Given the description of an element on the screen output the (x, y) to click on. 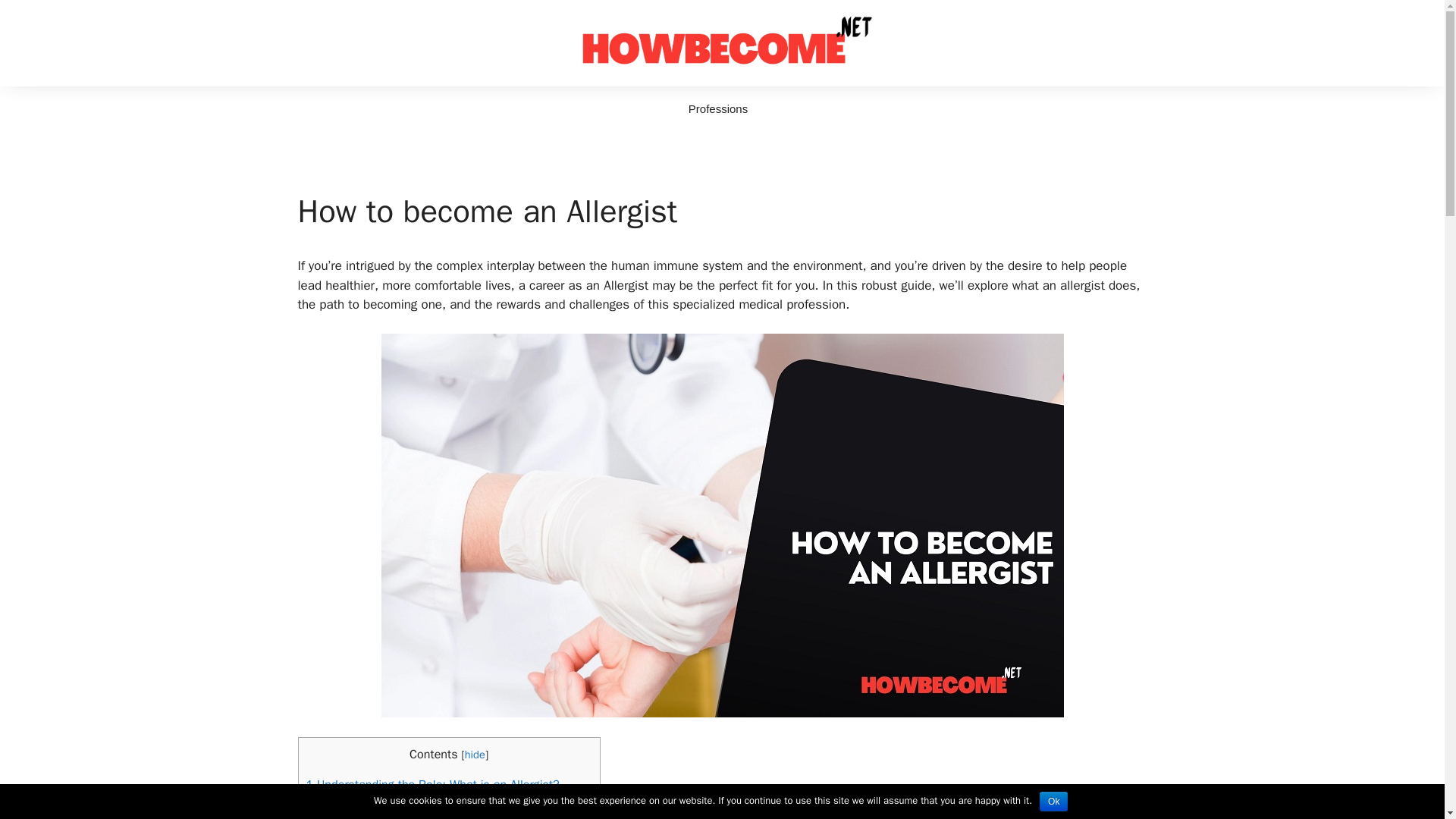
1 Understanding the Role: What is an Allergist? (432, 784)
3 The Road to Becoming an Allergist (402, 816)
Professions (717, 108)
hide (474, 754)
How Become (721, 41)
Ok (1053, 801)
2 The Rewarding Path of an Allergist (402, 802)
How Become (721, 43)
